Given the description of an element on the screen output the (x, y) to click on. 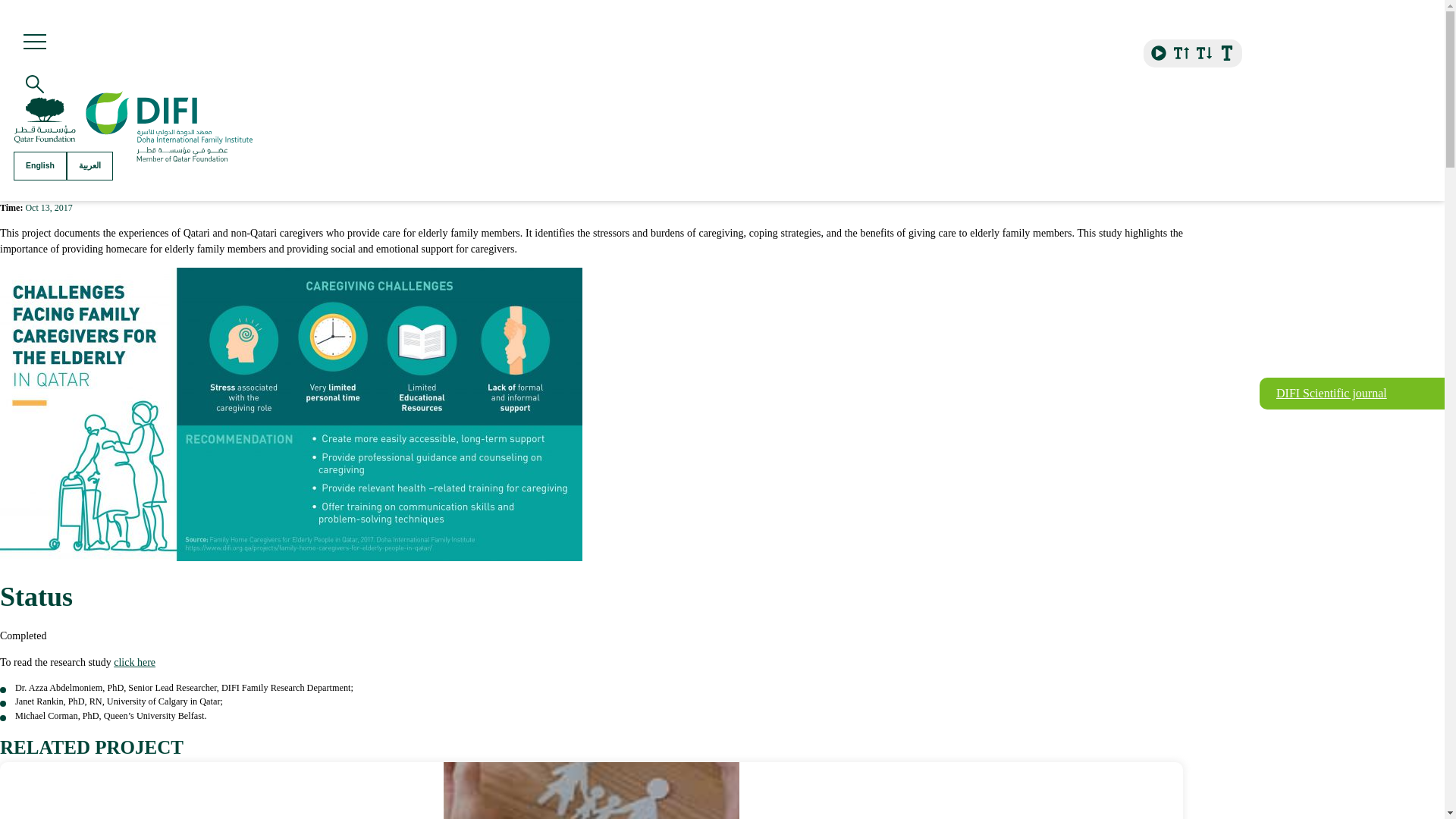
Share on LinkedIn (1168, 99)
English (39, 165)
Share on Facebook (1138, 99)
